Given the description of an element on the screen output the (x, y) to click on. 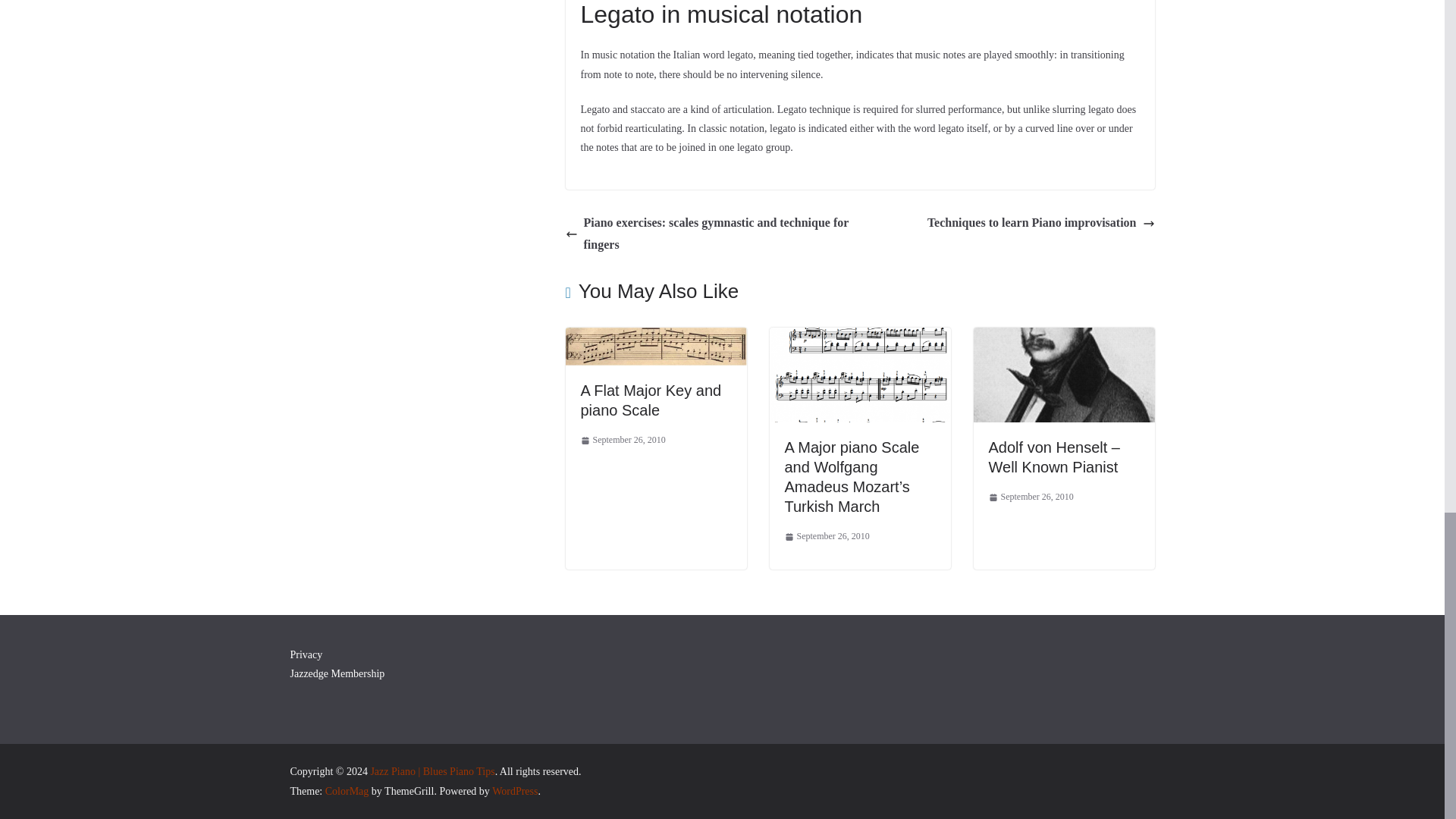
A Flat Major Key and piano Scale (651, 400)
A Flat Major Key and piano Scale (656, 337)
September 26, 2010 (826, 536)
September 26, 2010 (622, 440)
September 26, 2010 (1031, 497)
Piano exercises: scales gymnastic and technique for fingers (709, 234)
A Flat Major Key and piano Scale (651, 400)
9:10 am (622, 440)
Techniques to learn Piano improvisation (1040, 223)
